Given the description of an element on the screen output the (x, y) to click on. 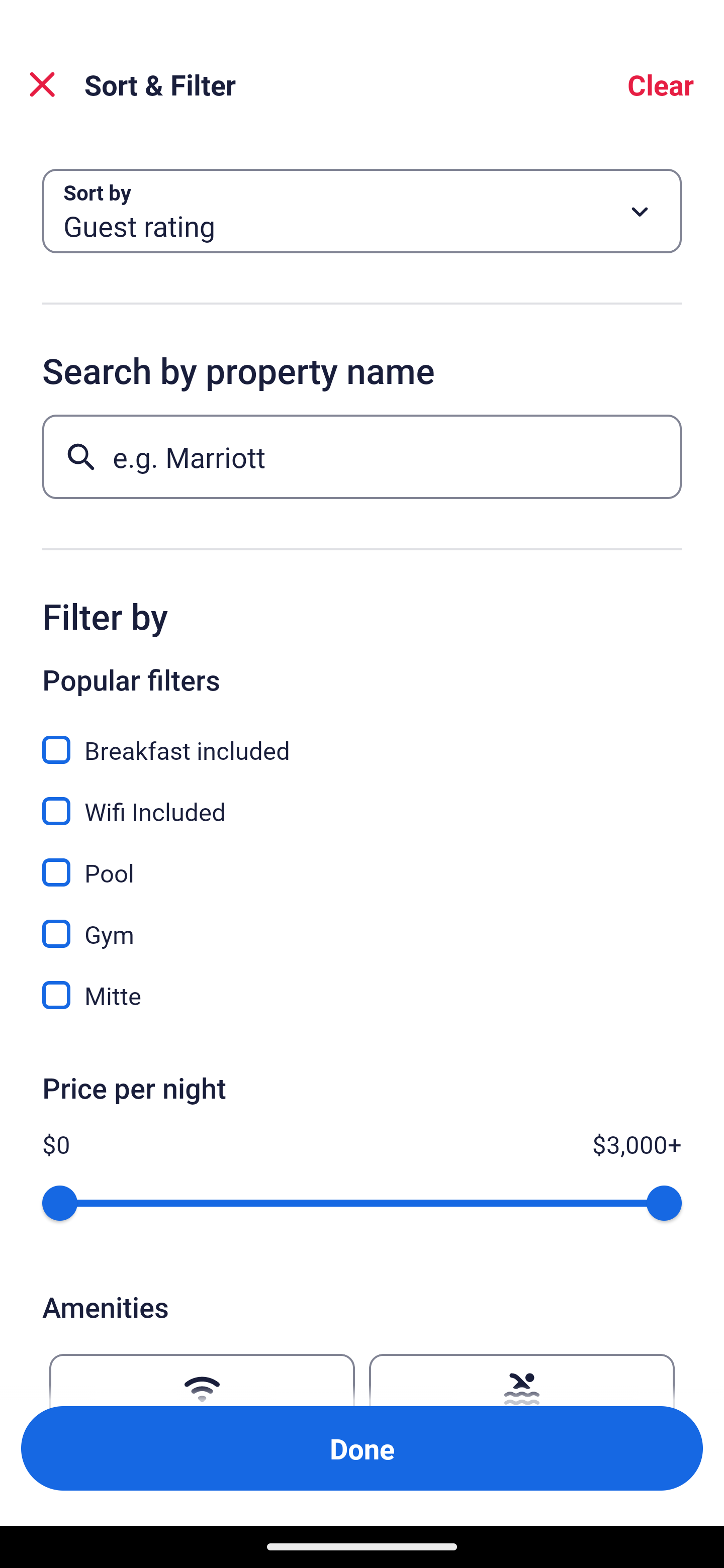
Close Sort and Filter (42, 84)
Clear (660, 84)
Sort by Button Guest rating (361, 211)
e.g. Marriott Button (361, 455)
Breakfast included, Breakfast included (361, 738)
Wifi Included, Wifi Included (361, 800)
Pool, Pool (361, 861)
Gym, Gym (361, 922)
Mitte, Mitte (361, 995)
Apply and close Sort and Filter Done (361, 1448)
